Given the description of an element on the screen output the (x, y) to click on. 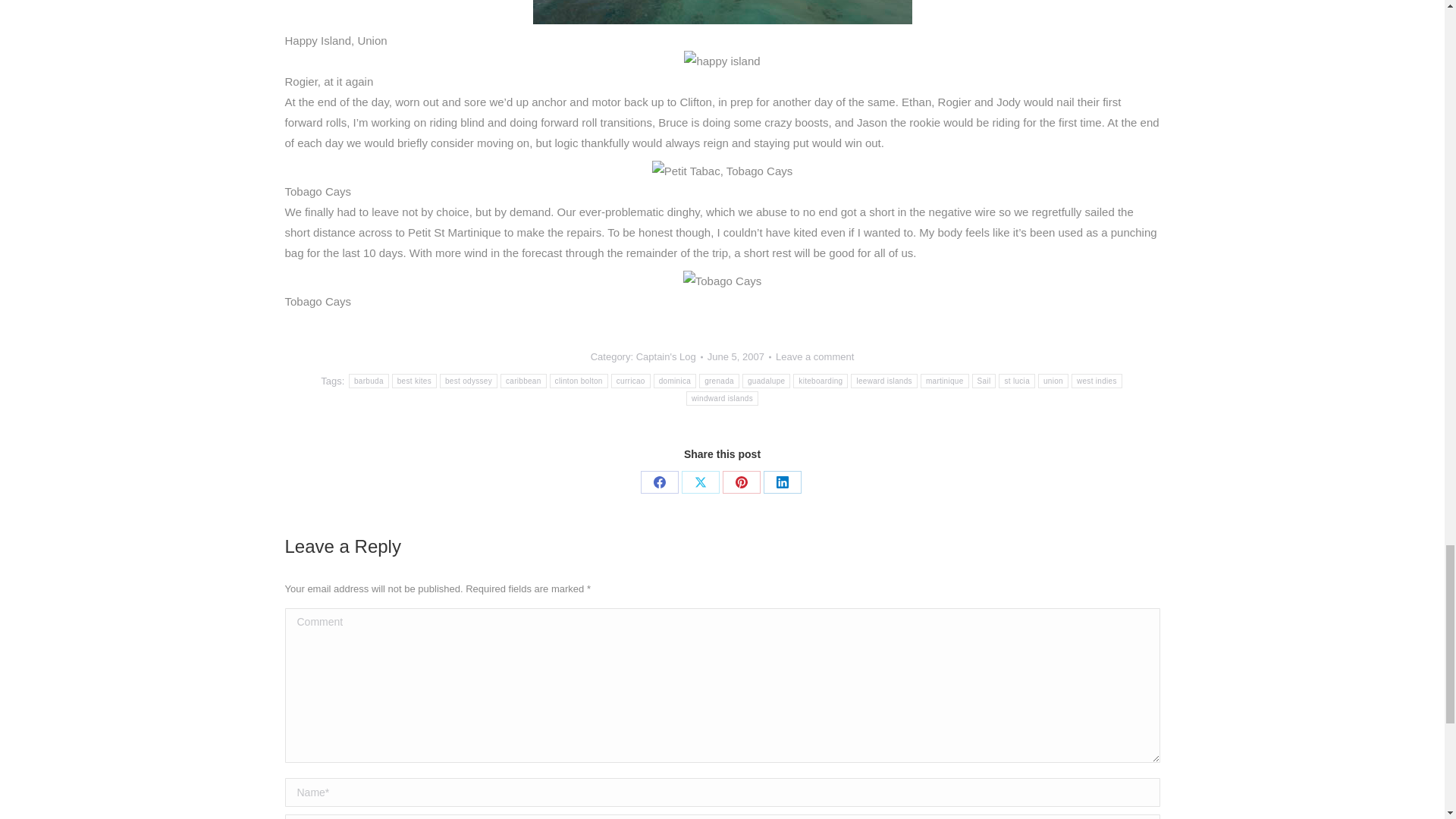
1:24 pm (739, 356)
Facebook (659, 481)
X (700, 481)
Pinterest (741, 481)
LinkedIn (781, 481)
